Given the description of an element on the screen output the (x, y) to click on. 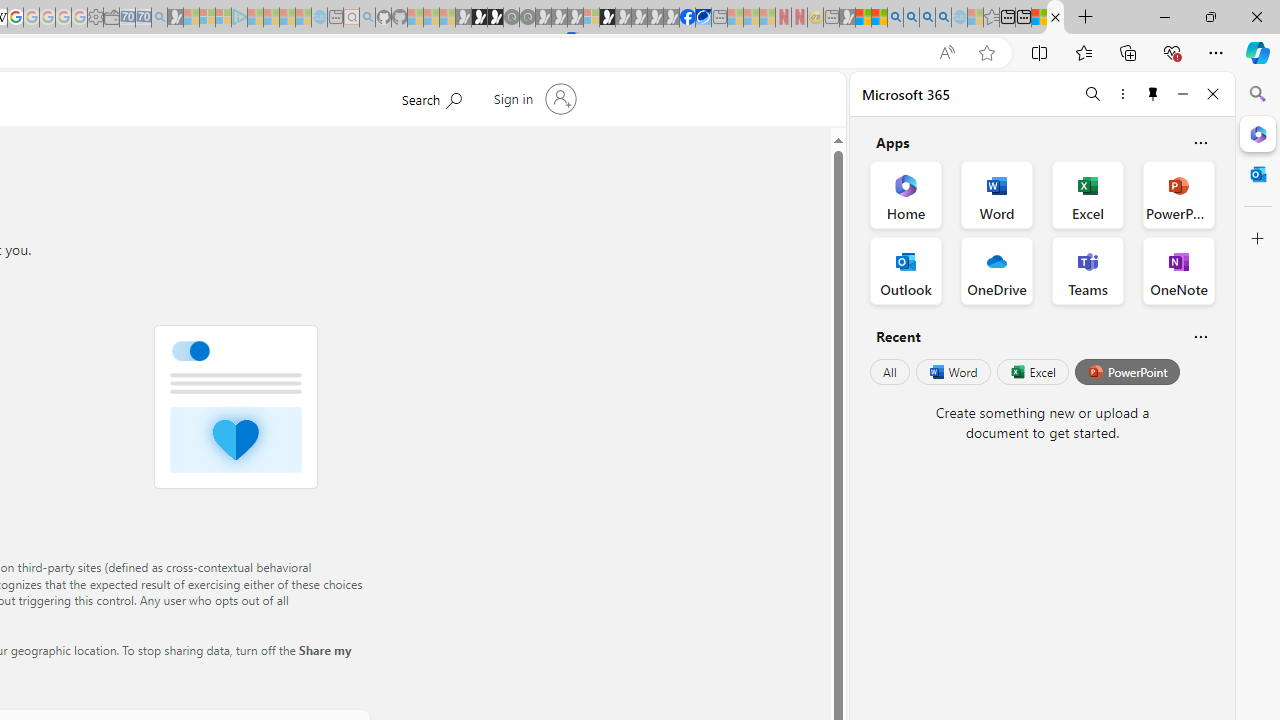
Settings - Sleeping (95, 17)
Word (952, 372)
Bing AI - Search (895, 17)
Close Microsoft 365 pane (1258, 133)
Microsoft Start - Sleeping (287, 17)
Favorites - Sleeping (991, 17)
Is this helpful? (1200, 336)
